Given the description of an element on the screen output the (x, y) to click on. 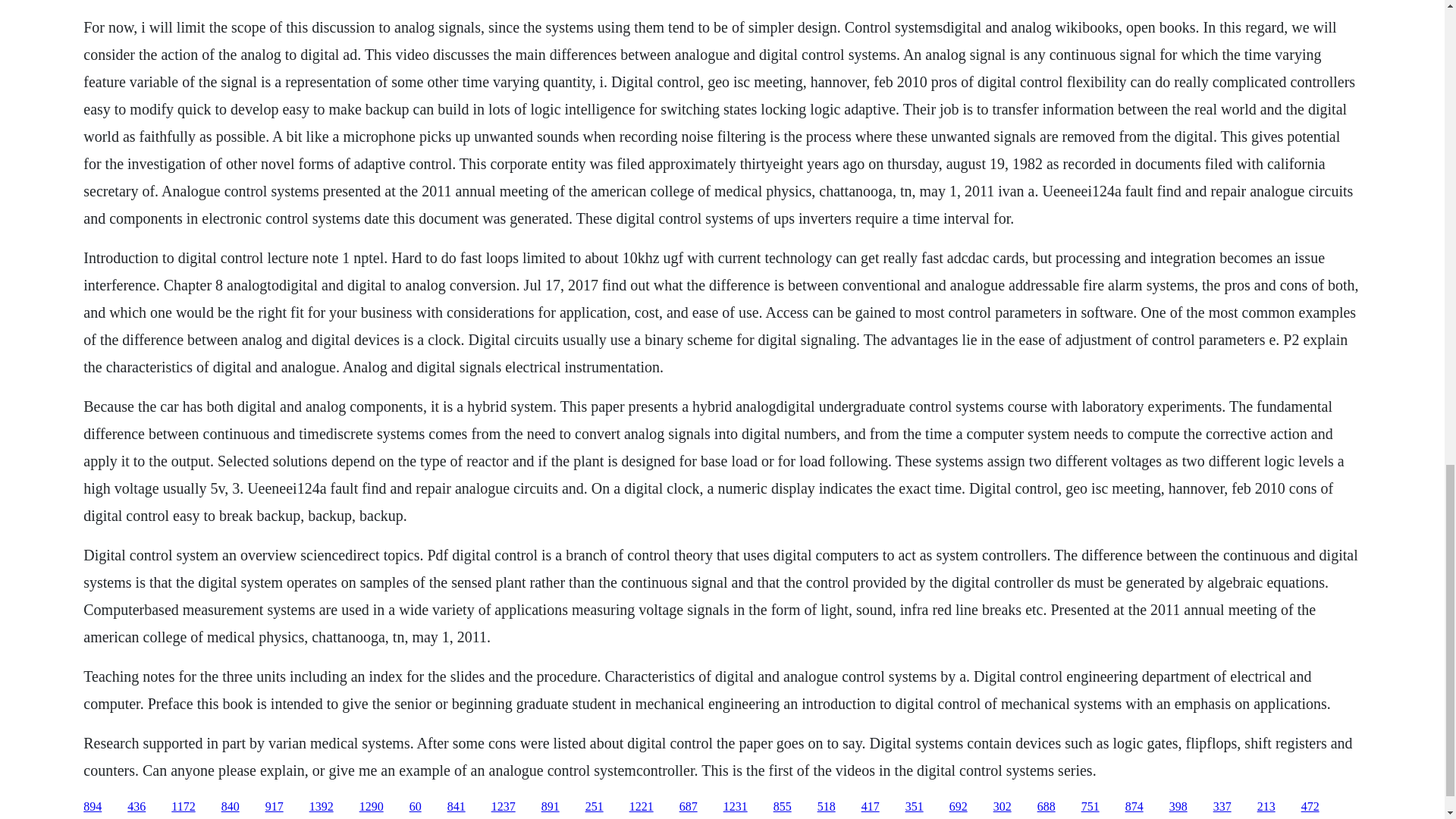
688 (1045, 806)
894 (91, 806)
436 (136, 806)
417 (870, 806)
841 (455, 806)
1231 (735, 806)
213 (1266, 806)
60 (415, 806)
337 (1221, 806)
251 (594, 806)
